Given the description of an element on the screen output the (x, y) to click on. 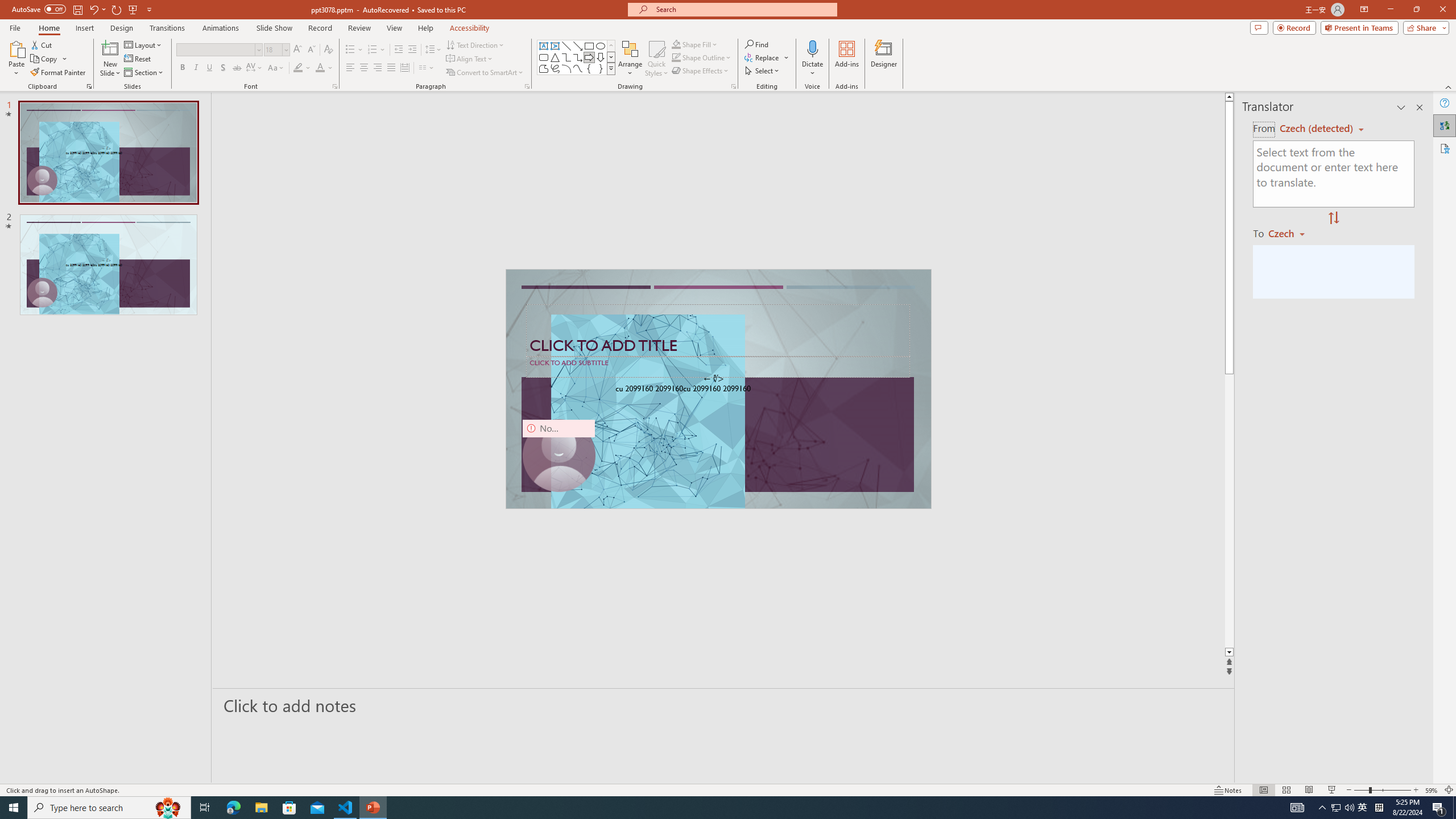
TextBox 61 (717, 389)
Czech (1291, 232)
